Given the description of an element on the screen output the (x, y) to click on. 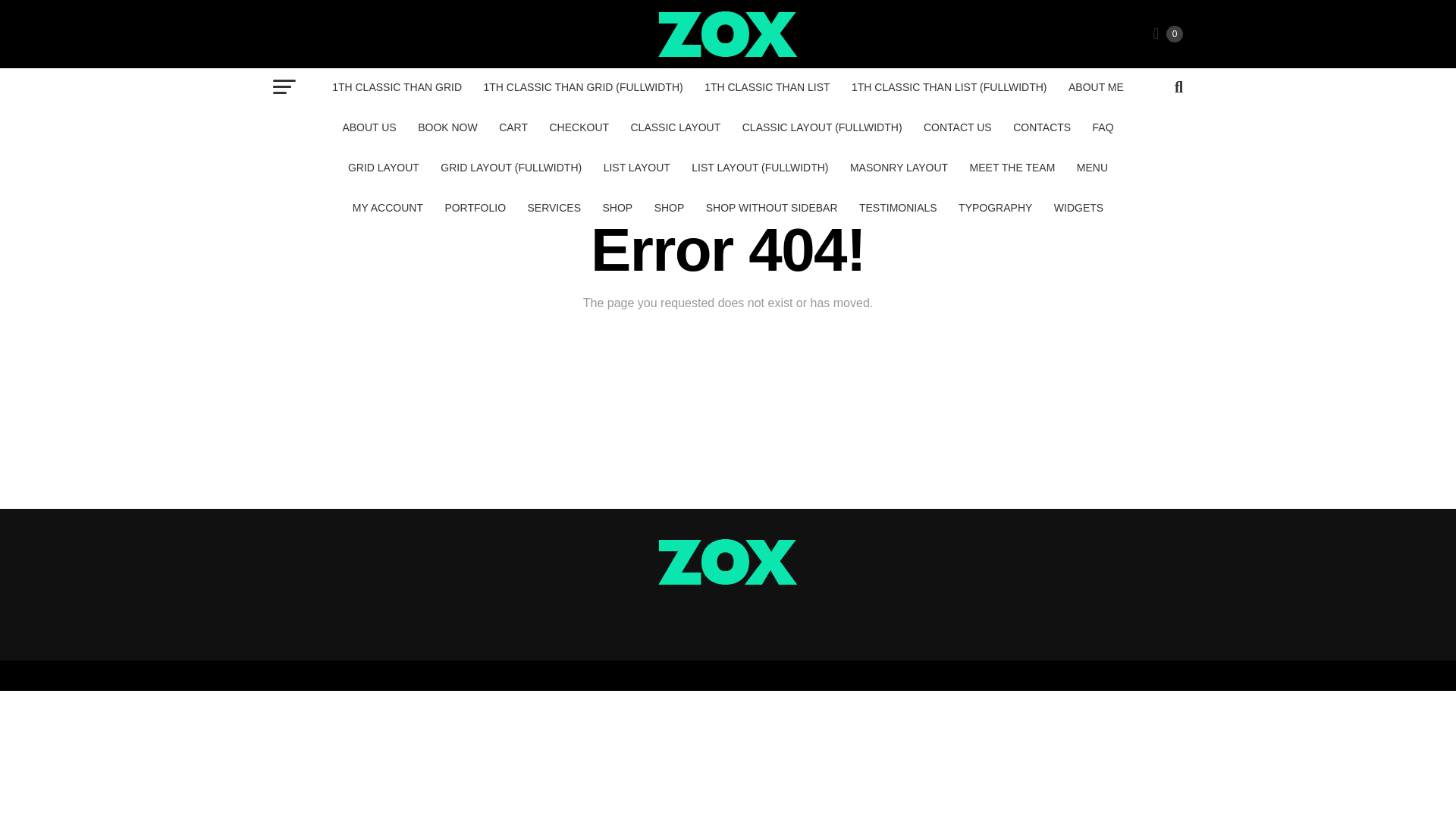
ABOUT ME (1095, 86)
ABOUT US (368, 127)
1TH CLASSIC THAN GRID (396, 86)
1TH CLASSIC THAN LIST (766, 86)
